Given the description of an element on the screen output the (x, y) to click on. 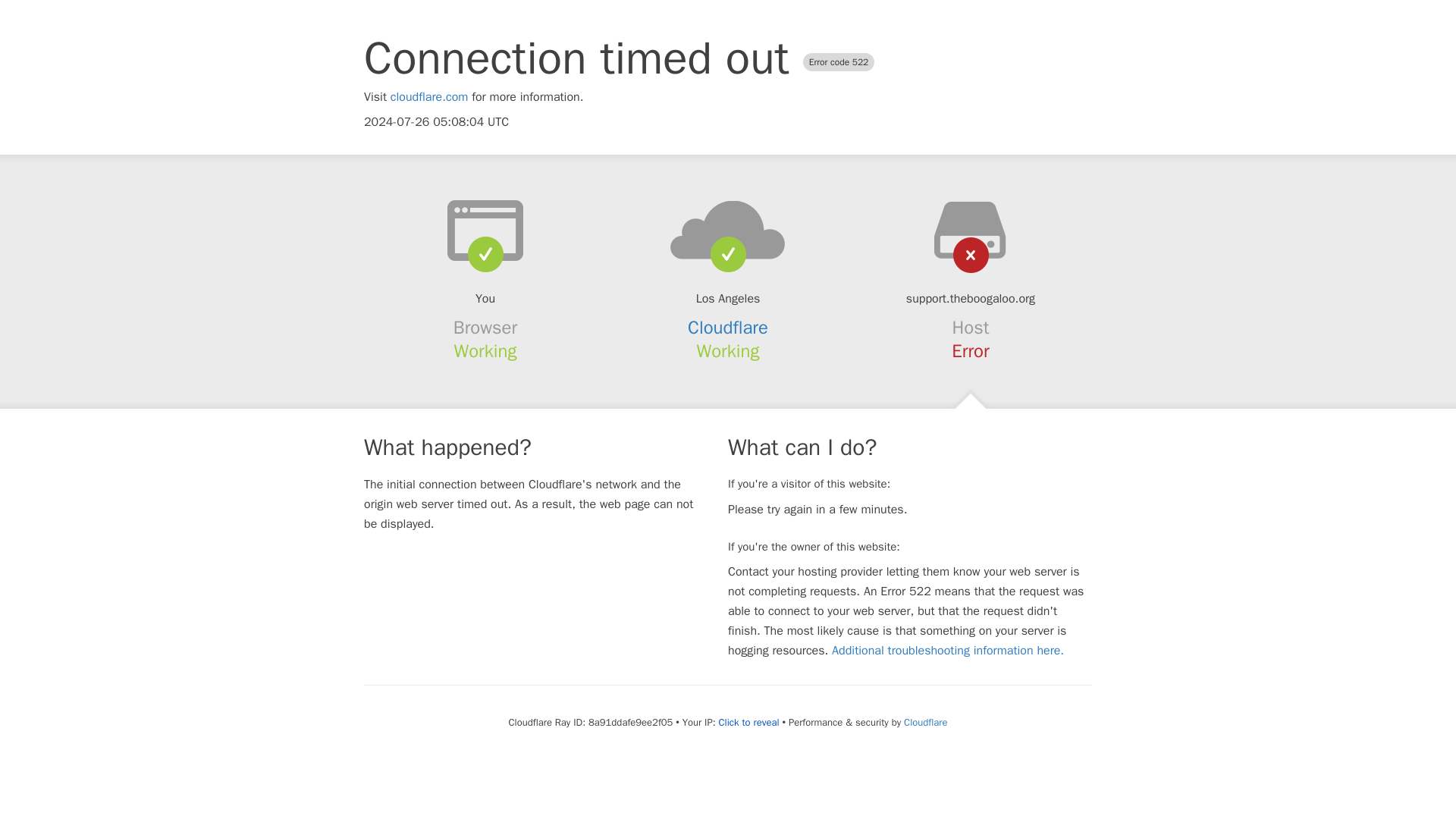
Cloudflare (925, 721)
Additional troubleshooting information here. (947, 650)
Cloudflare (727, 327)
Click to reveal (748, 722)
cloudflare.com (429, 96)
